Given the description of an element on the screen output the (x, y) to click on. 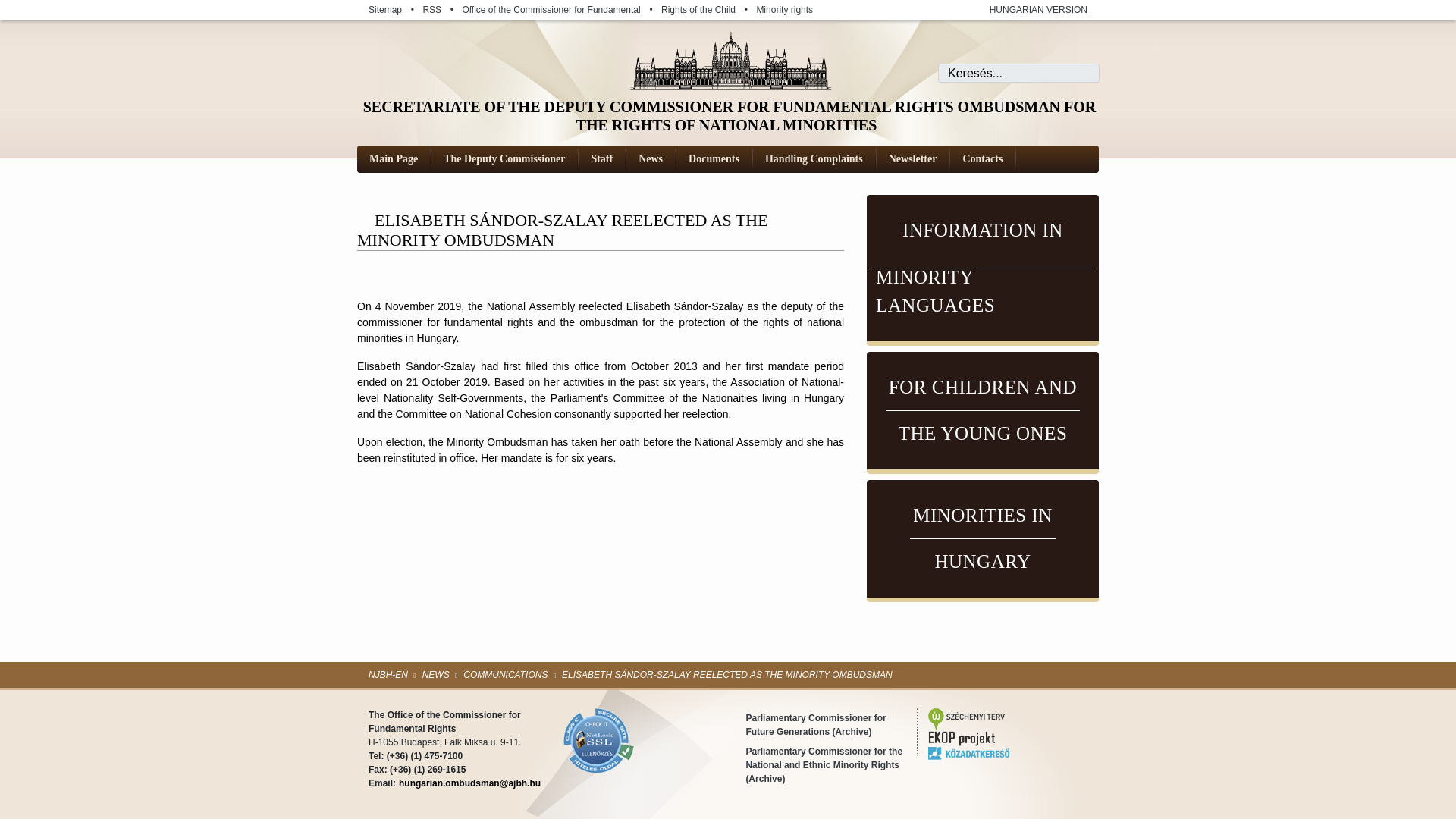
Communications (508, 674)
NJBH-EN (390, 674)
Minority rights (793, 9)
HUNGARIAN VERSION (1029, 9)
Staff (982, 269)
Handling Complaints (601, 158)
Office of the Commissioner for Fundamental (814, 158)
Main Page (559, 9)
Documents (393, 158)
